Given the description of an element on the screen output the (x, y) to click on. 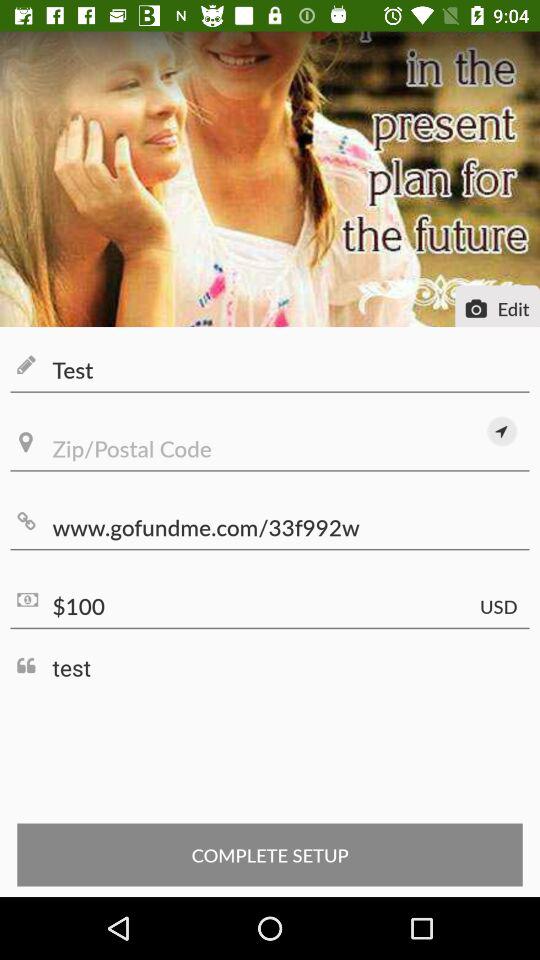
scroll until the www gofundme com item (269, 527)
